Given the description of an element on the screen output the (x, y) to click on. 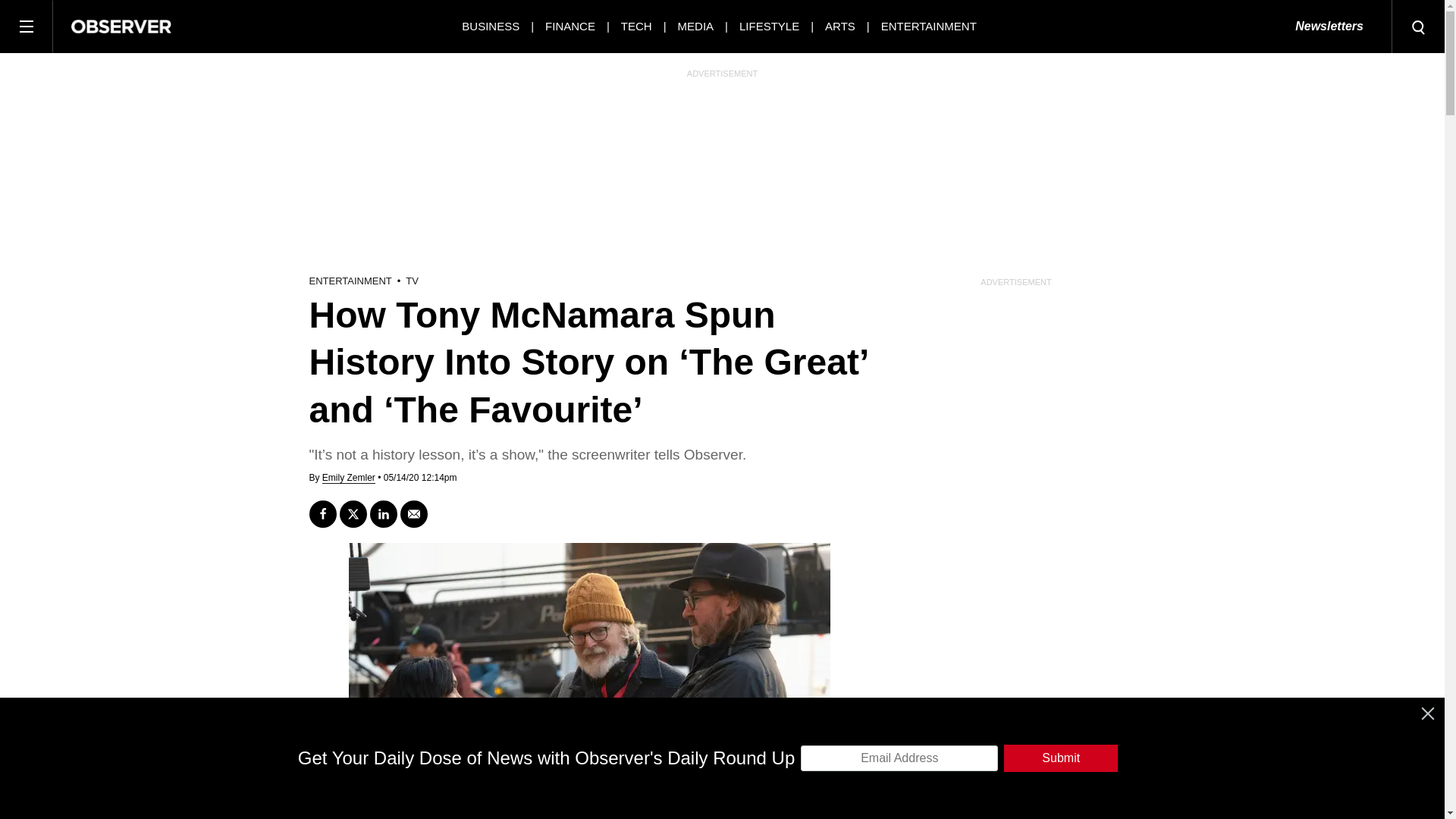
Newsletters (1329, 26)
FINANCE (569, 25)
Tweet (352, 513)
BUSINESS (490, 25)
Observer (121, 26)
ARTS (840, 25)
TECH (636, 25)
Share on LinkedIn (383, 513)
Send email (414, 513)
ENTERTAINMENT (928, 25)
